Given the description of an element on the screen output the (x, y) to click on. 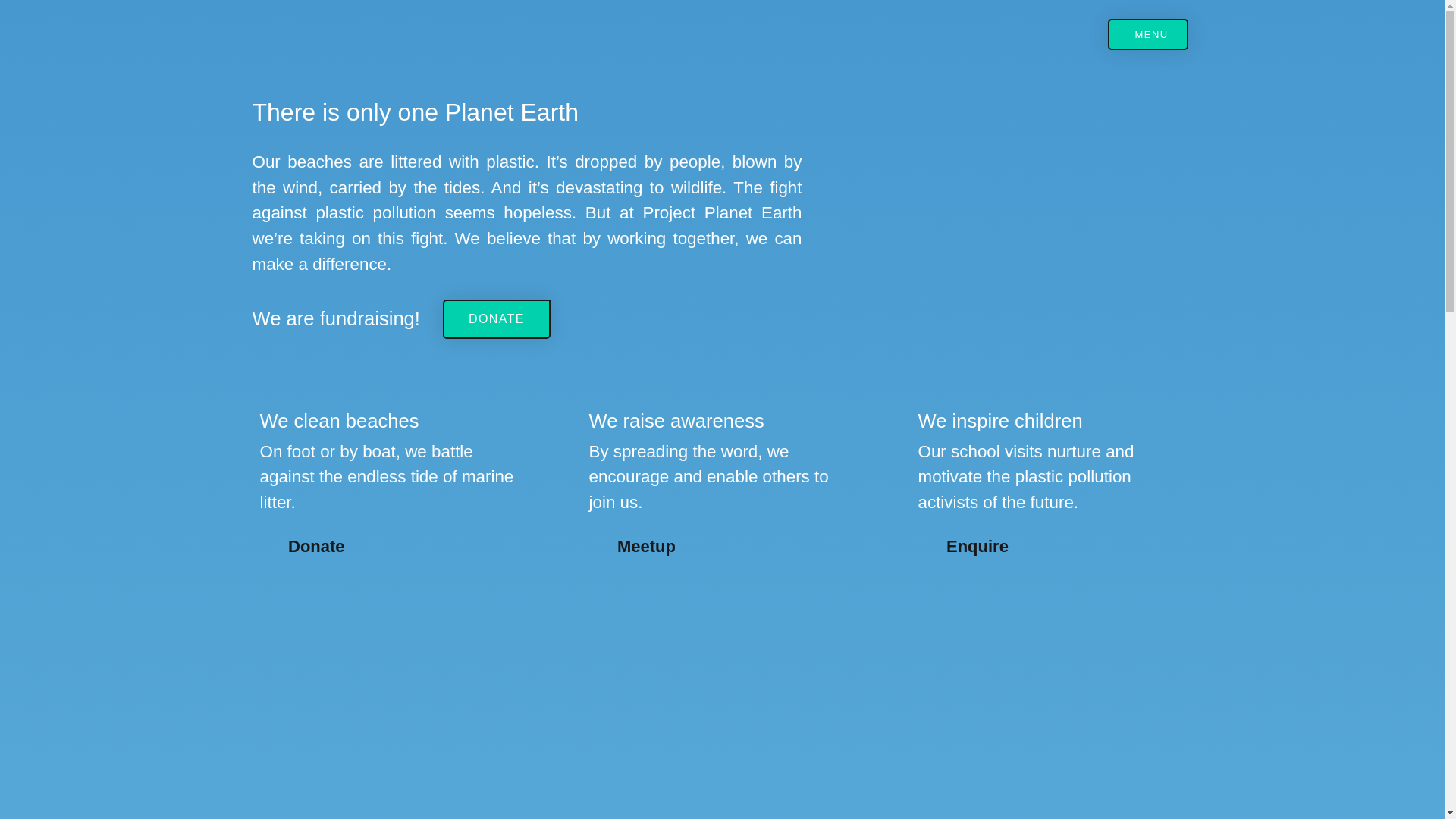
Donate (392, 545)
MENU (1148, 33)
Meetup (722, 545)
DONATE (496, 319)
Enquire (1051, 545)
